Given the description of an element on the screen output the (x, y) to click on. 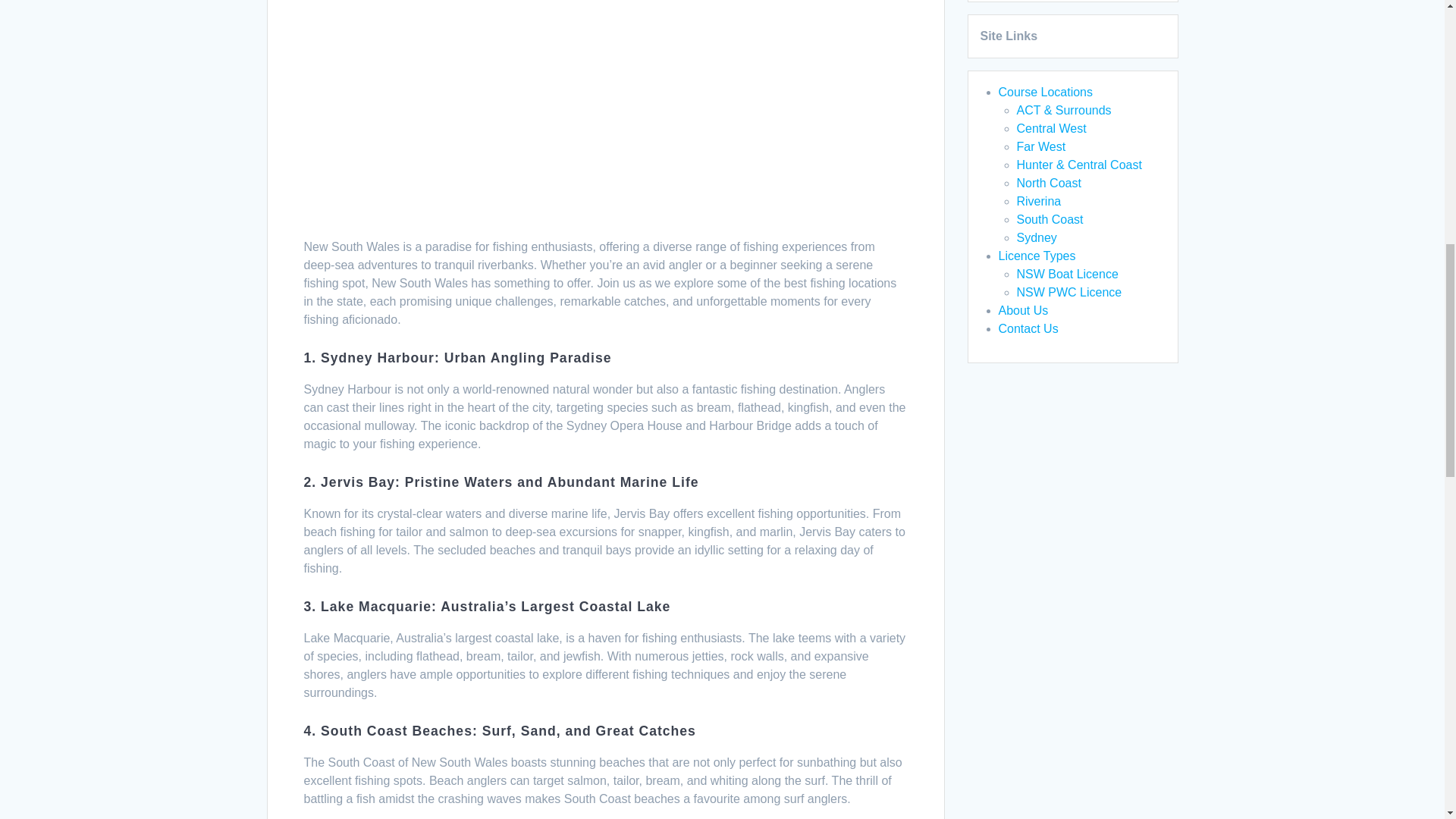
Sydney (1036, 237)
South Coast (1049, 219)
Course Locations (1045, 91)
Far West (1040, 146)
NSW PWC Licence (1068, 291)
NSW Boat Licence (1067, 273)
About Us (1022, 309)
Riverina (1038, 201)
Licence Types (1036, 255)
Contact Us (1027, 328)
